Given the description of an element on the screen output the (x, y) to click on. 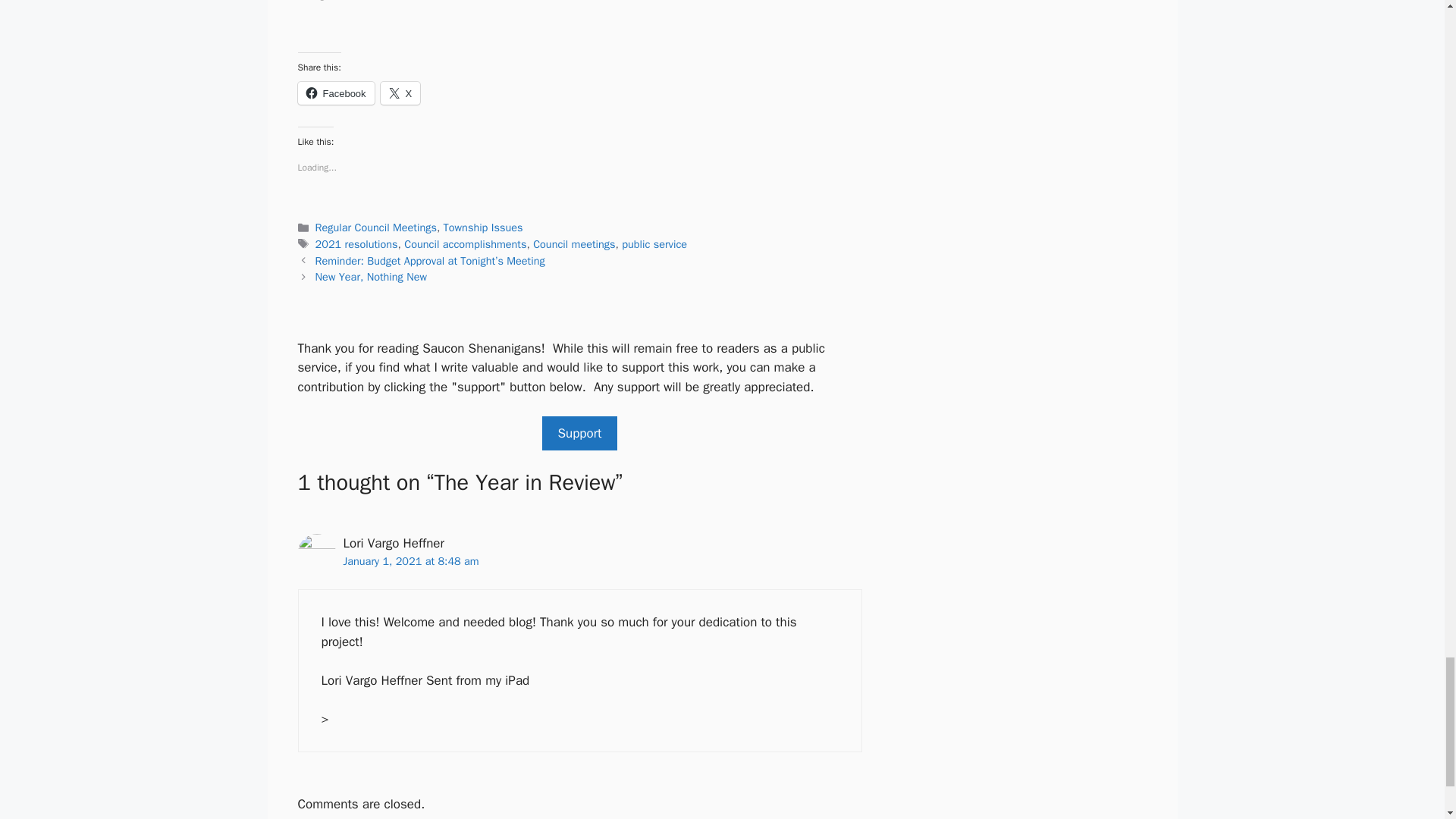
Council meetings (573, 243)
Support (578, 433)
Click to share on Facebook (335, 92)
public service (654, 243)
New Year, Nothing New (370, 276)
Township Issues (483, 227)
Facebook (335, 92)
2021 resolutions (356, 243)
Regular Council Meetings (375, 227)
January 1, 2021 at 8:48 am (410, 561)
X (400, 92)
Click to share on X (400, 92)
Council accomplishments (464, 243)
